Given the description of an element on the screen output the (x, y) to click on. 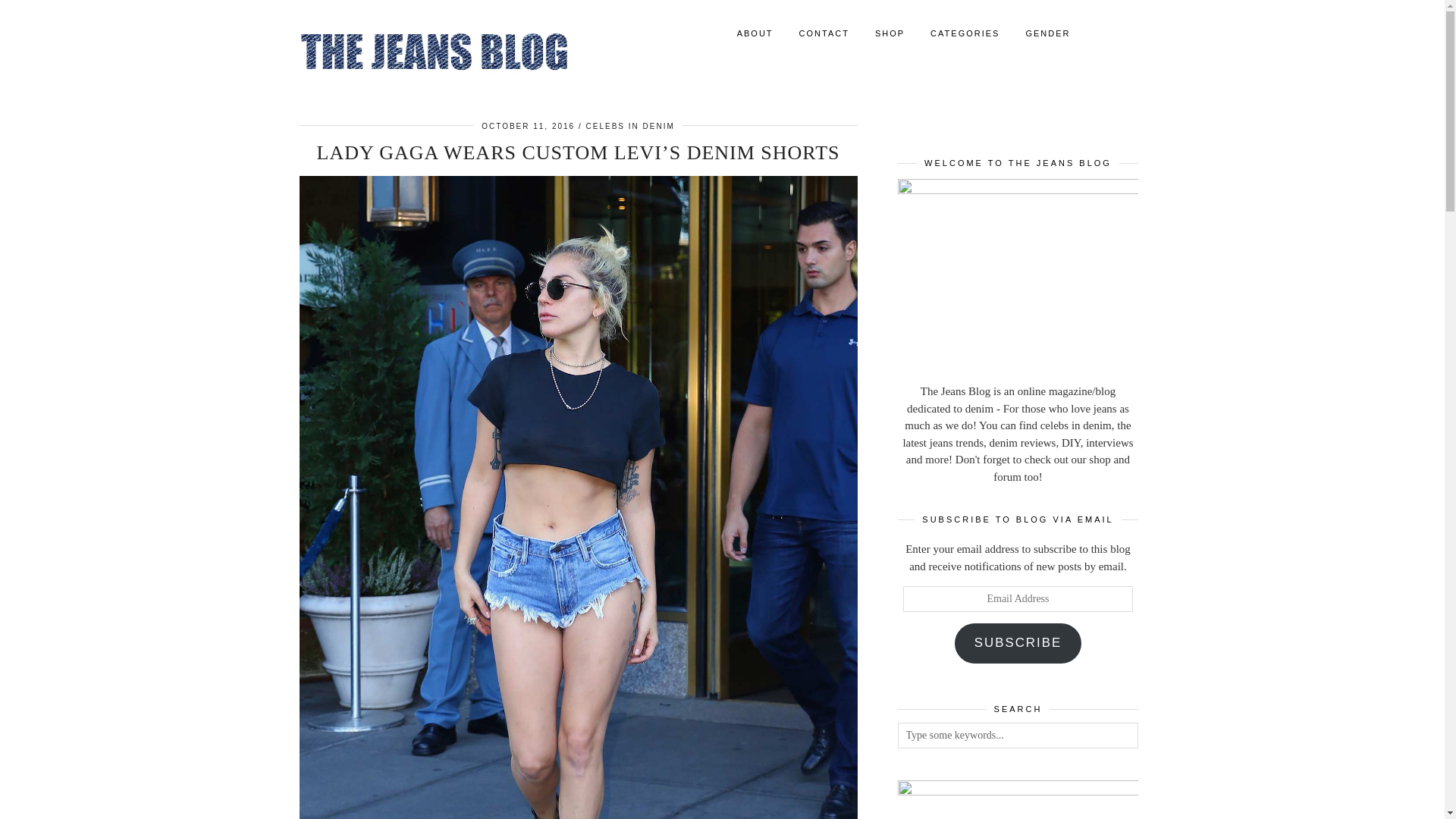
CONTACT (823, 32)
DENIM SHOP (889, 32)
SHOP (889, 32)
ABOUT (754, 32)
GENDER (1047, 32)
THE JEANS BLOG (433, 51)
CATEGORIES (964, 32)
